Given the description of an element on the screen output the (x, y) to click on. 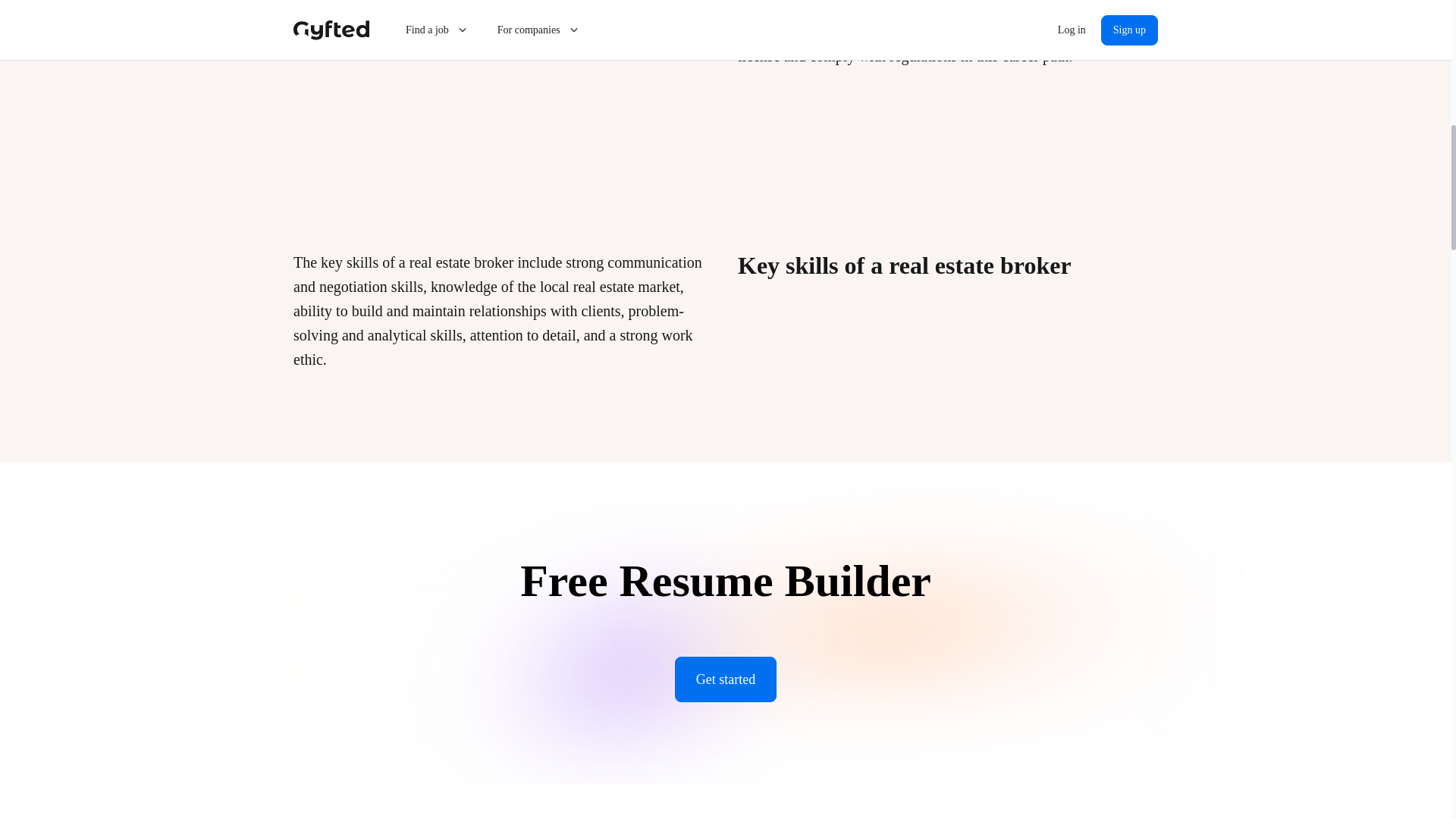
Get started (725, 678)
